Given the description of an element on the screen output the (x, y) to click on. 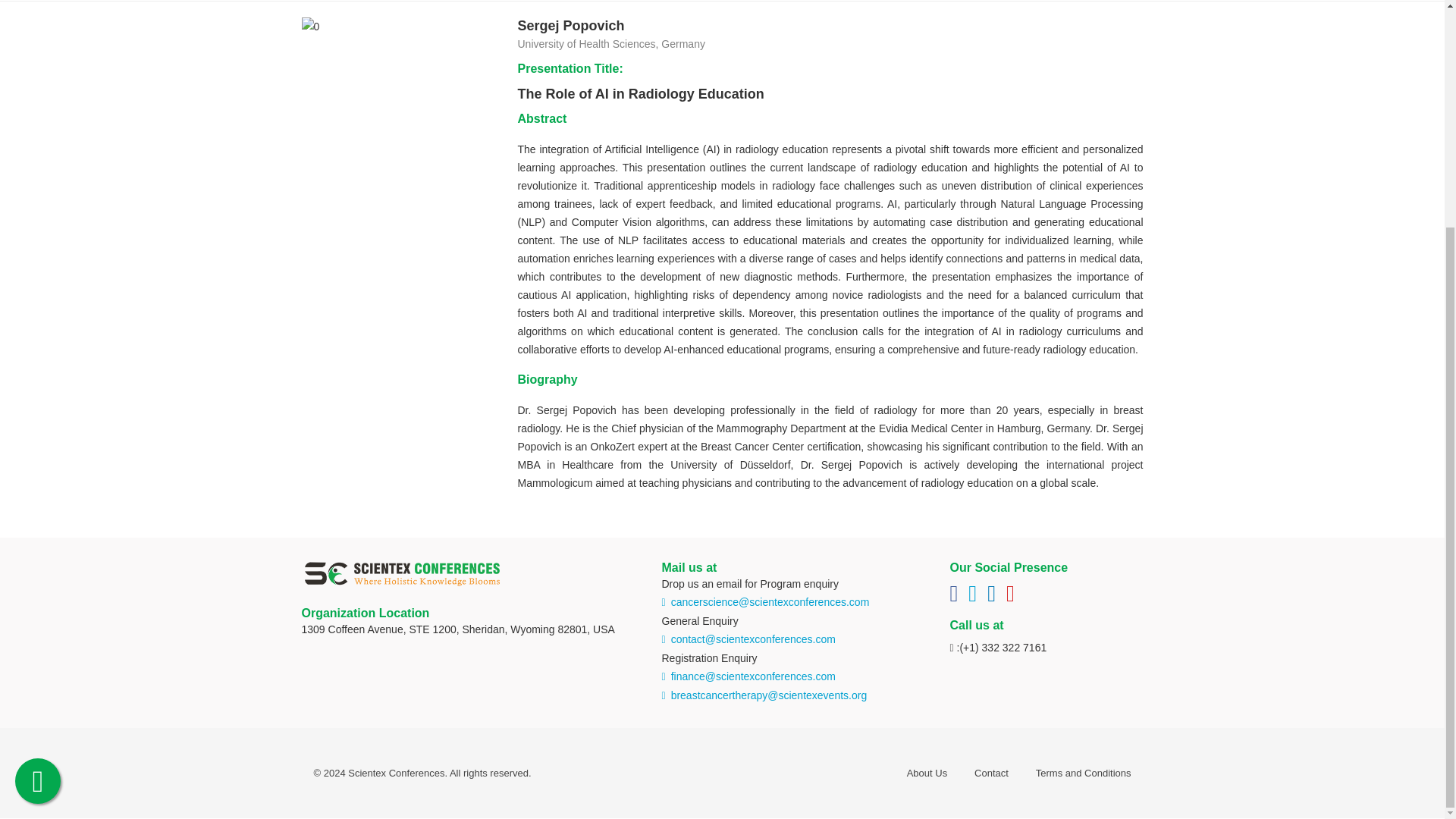
Terms and Conditions (1083, 772)
About Us (927, 772)
Contact (991, 772)
